Given the description of an element on the screen output the (x, y) to click on. 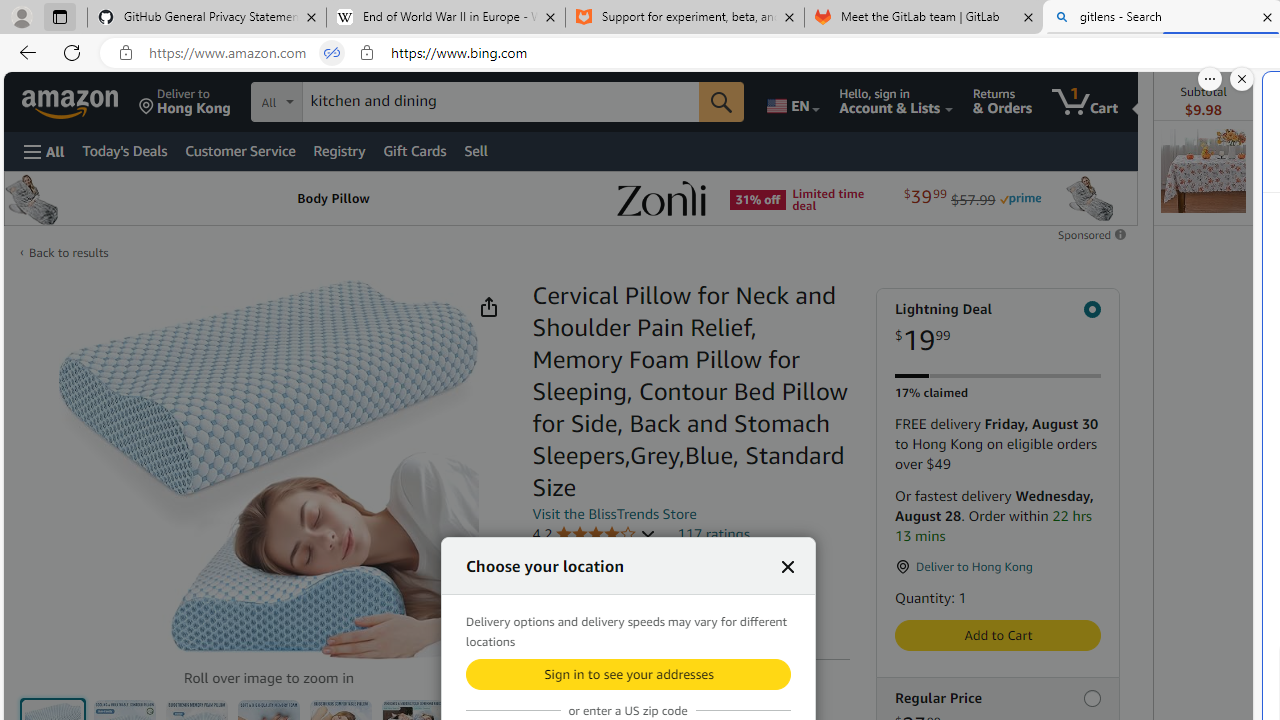
Share (489, 307)
Registry (339, 150)
GitHub General Privacy Statement - GitHub Docs (207, 17)
Sell (475, 150)
Close split screen. (1242, 79)
Deliver to Hong Kong (185, 101)
Sustainability features 1 sustainability feature  (626, 616)
Amazon (72, 101)
Logo (661, 198)
Meet the GitLab team | GitLab (924, 17)
